Given the description of an element on the screen output the (x, y) to click on. 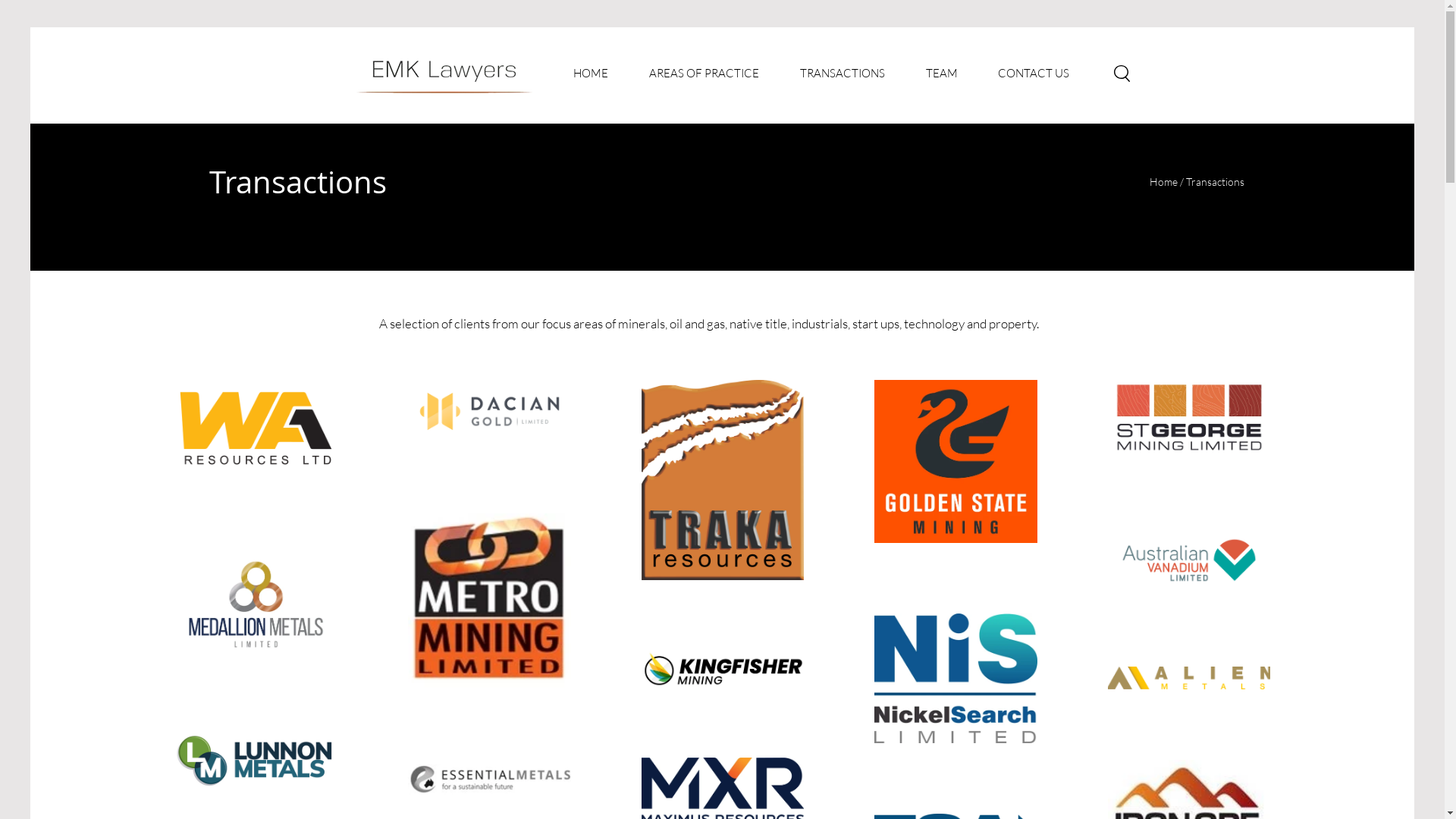
AREAS OF PRACTICE Element type: text (702, 73)
Transactions Element type: text (1215, 181)
Home  Element type: text (1164, 181)
TRANSACTIONS Element type: text (842, 73)
CONTACT US Element type: text (1033, 73)
HOME Element type: text (589, 73)
TEAM Element type: text (941, 73)
